Given the description of an element on the screen output the (x, y) to click on. 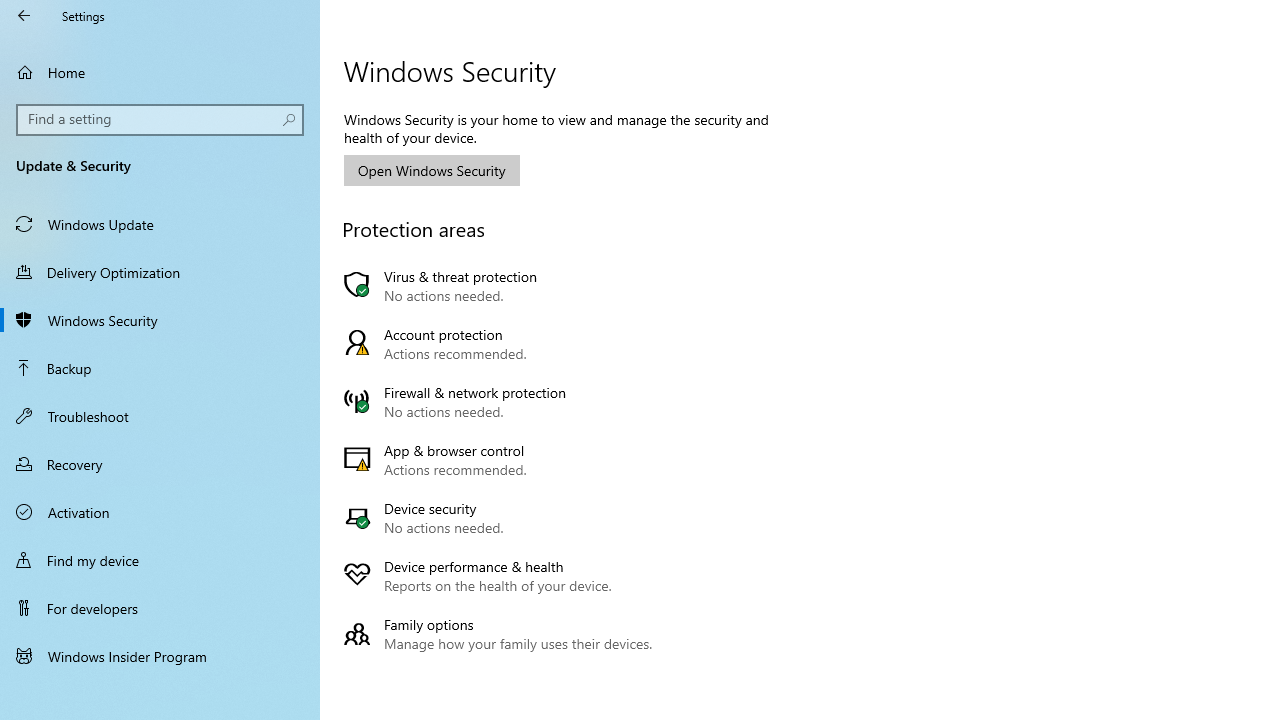
Troubleshoot (160, 415)
Recovery (160, 463)
Windows Update (160, 223)
Home (160, 71)
Virus & threat protection No actions needed. (502, 286)
Delivery Optimization (160, 271)
Back (24, 15)
Account protection Actions recommended. (502, 343)
Search box, Find a setting (160, 119)
Family options (502, 633)
Windows Security (160, 319)
For developers (160, 607)
Device performance & health (502, 575)
Backup (160, 367)
Open Windows Security (431, 169)
